Given the description of an element on the screen output the (x, y) to click on. 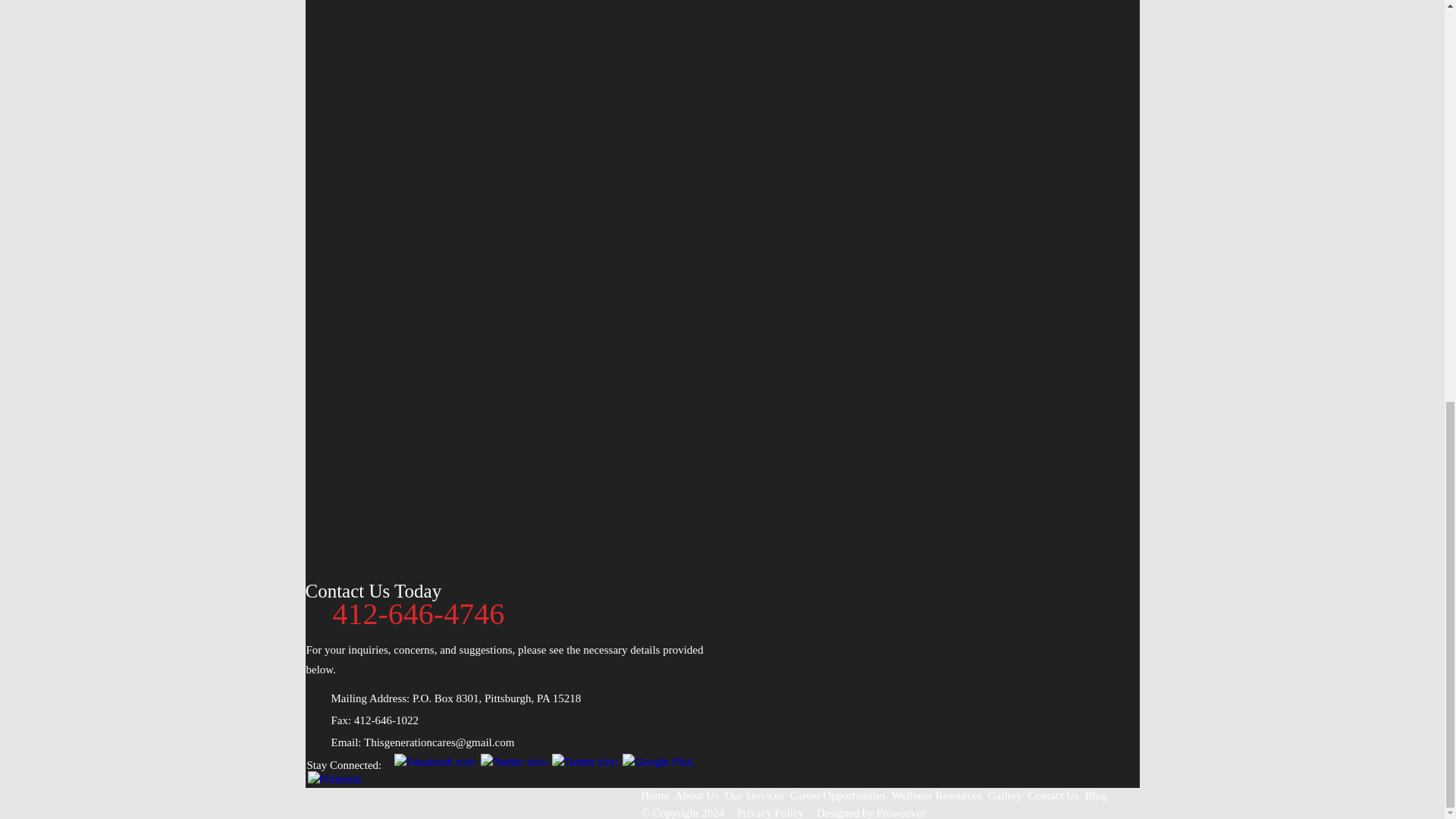
Gallery (1005, 795)
Career Opportunities (837, 795)
Contact Us (1053, 795)
Wellness Resources (936, 795)
About Us (696, 795)
Home (656, 795)
Our Services (754, 795)
Blog (1094, 795)
